Given the description of an element on the screen output the (x, y) to click on. 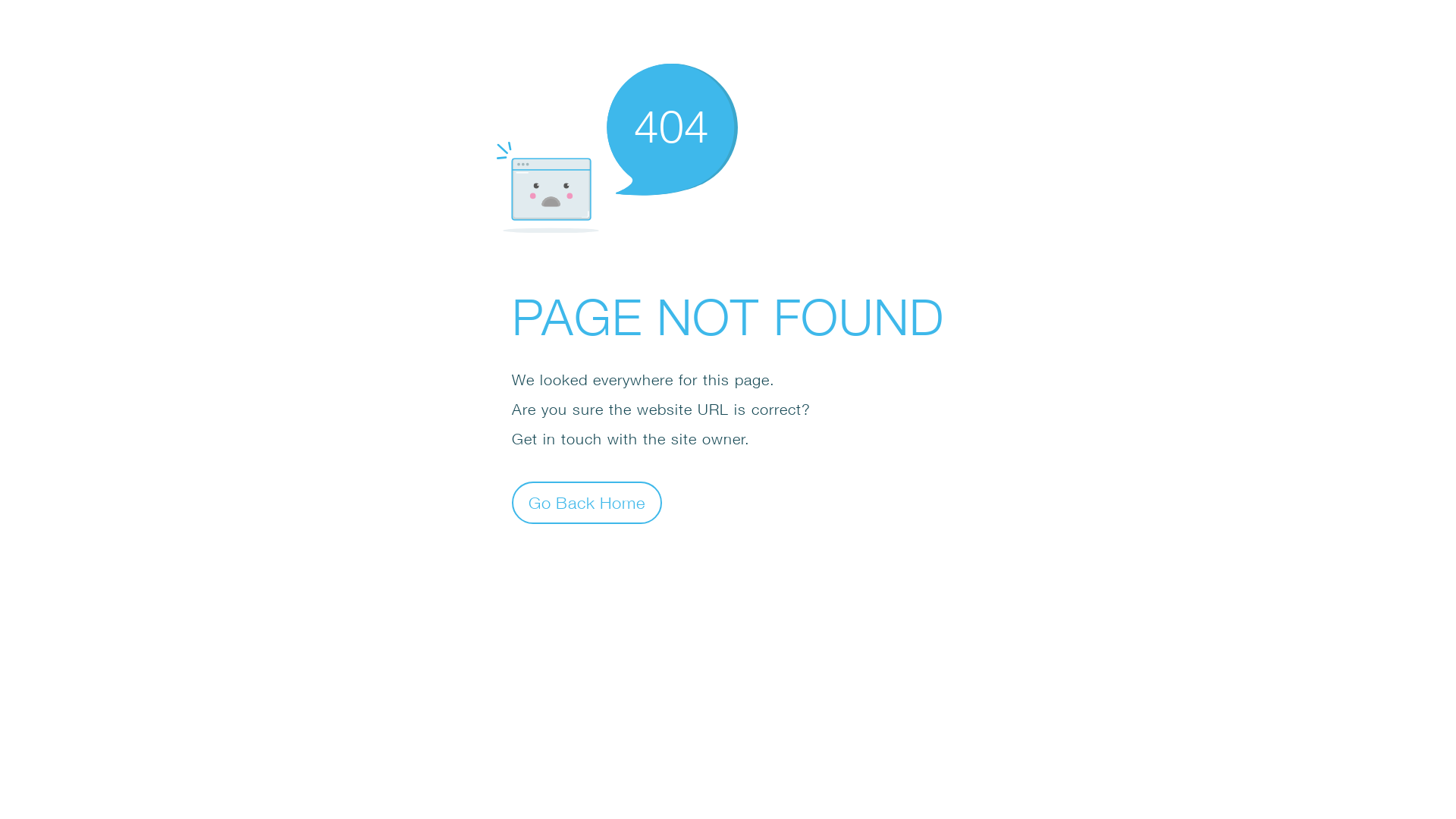
Go Back Home Element type: text (586, 502)
